Given the description of an element on the screen output the (x, y) to click on. 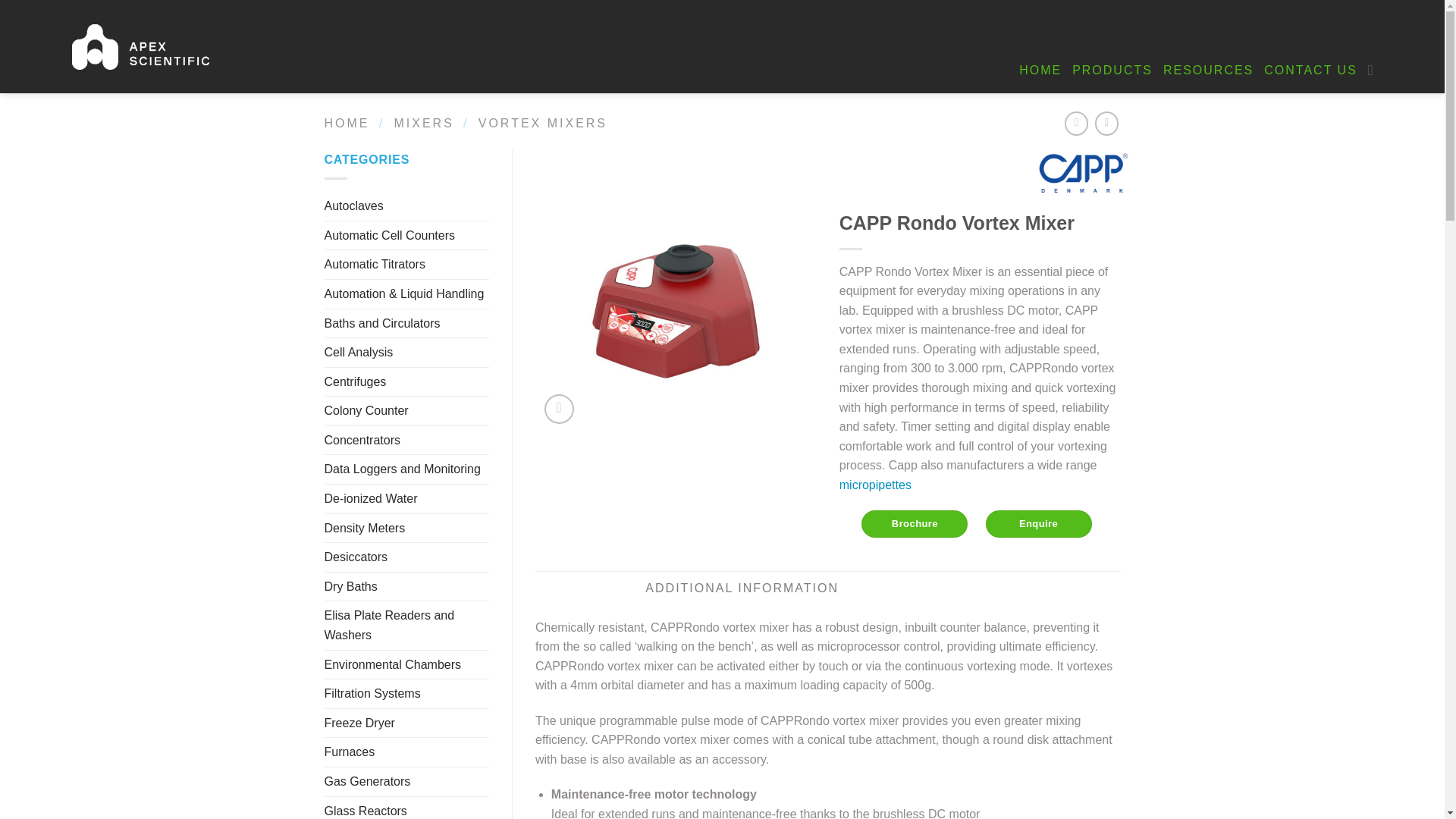
PRODUCTS (1112, 70)
Baths and Circulators (406, 323)
Zoom (558, 408)
Automatic Titrators (406, 264)
MIXERS (422, 123)
Autoclaves (406, 205)
Automatic Cell Counters (406, 235)
CONTACT US (1309, 70)
VORTEX MIXERS (543, 123)
